Given the description of an element on the screen output the (x, y) to click on. 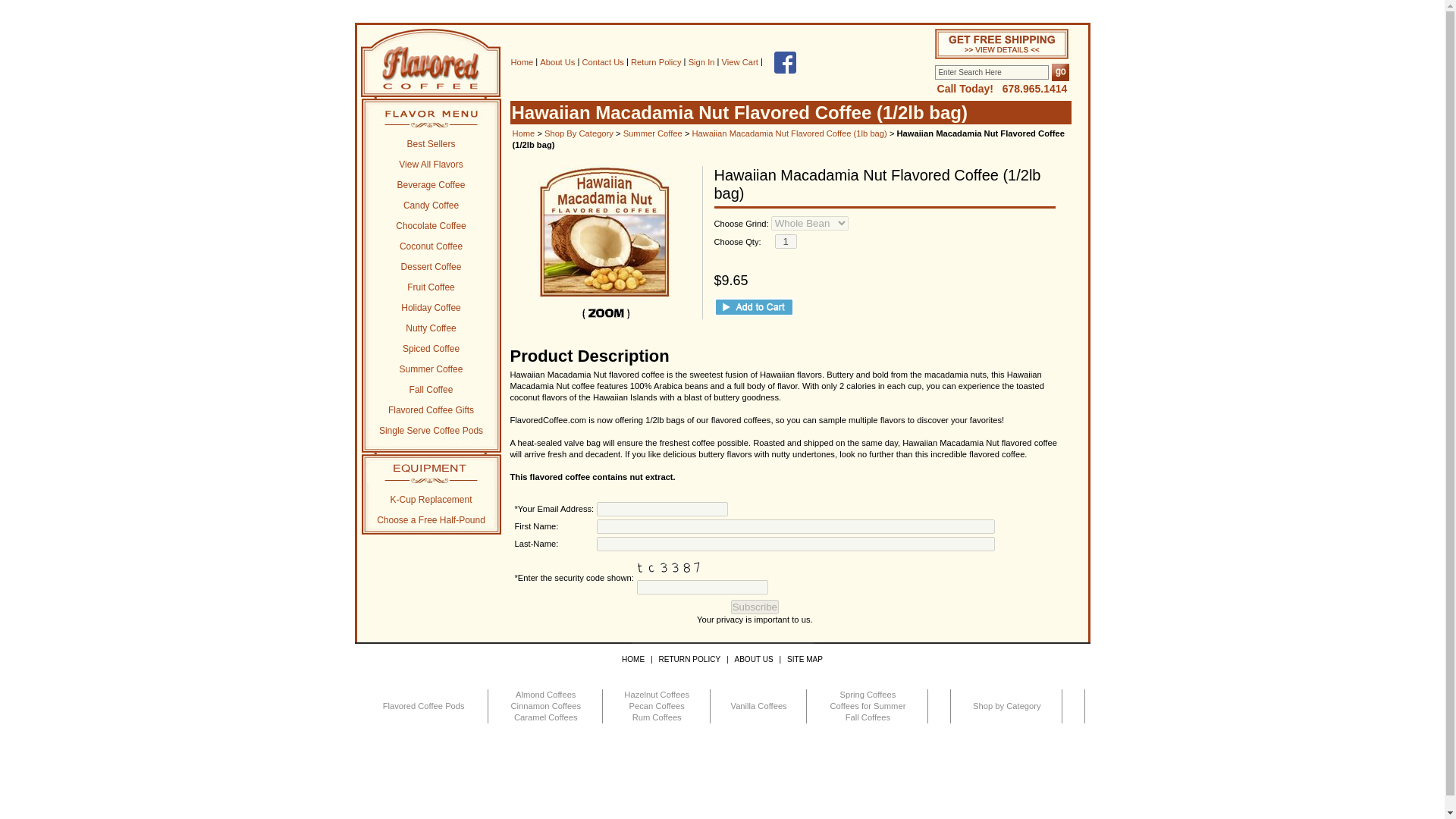
RETURN POLICY (688, 659)
Fruit Coffee (431, 287)
Contact Us (603, 61)
Subscribe (754, 606)
Best Sellers (431, 143)
GO! (1059, 72)
Cinnamon Coffees (545, 706)
Enter Search Here (991, 72)
Summer Coffee (431, 369)
K-Cup Replacement (431, 500)
Shop By Category (578, 133)
Candy Coffee (431, 205)
Almond Coffees (545, 695)
Spiced Coffee (431, 348)
Dessert Coffee (431, 266)
